Given the description of an element on the screen output the (x, y) to click on. 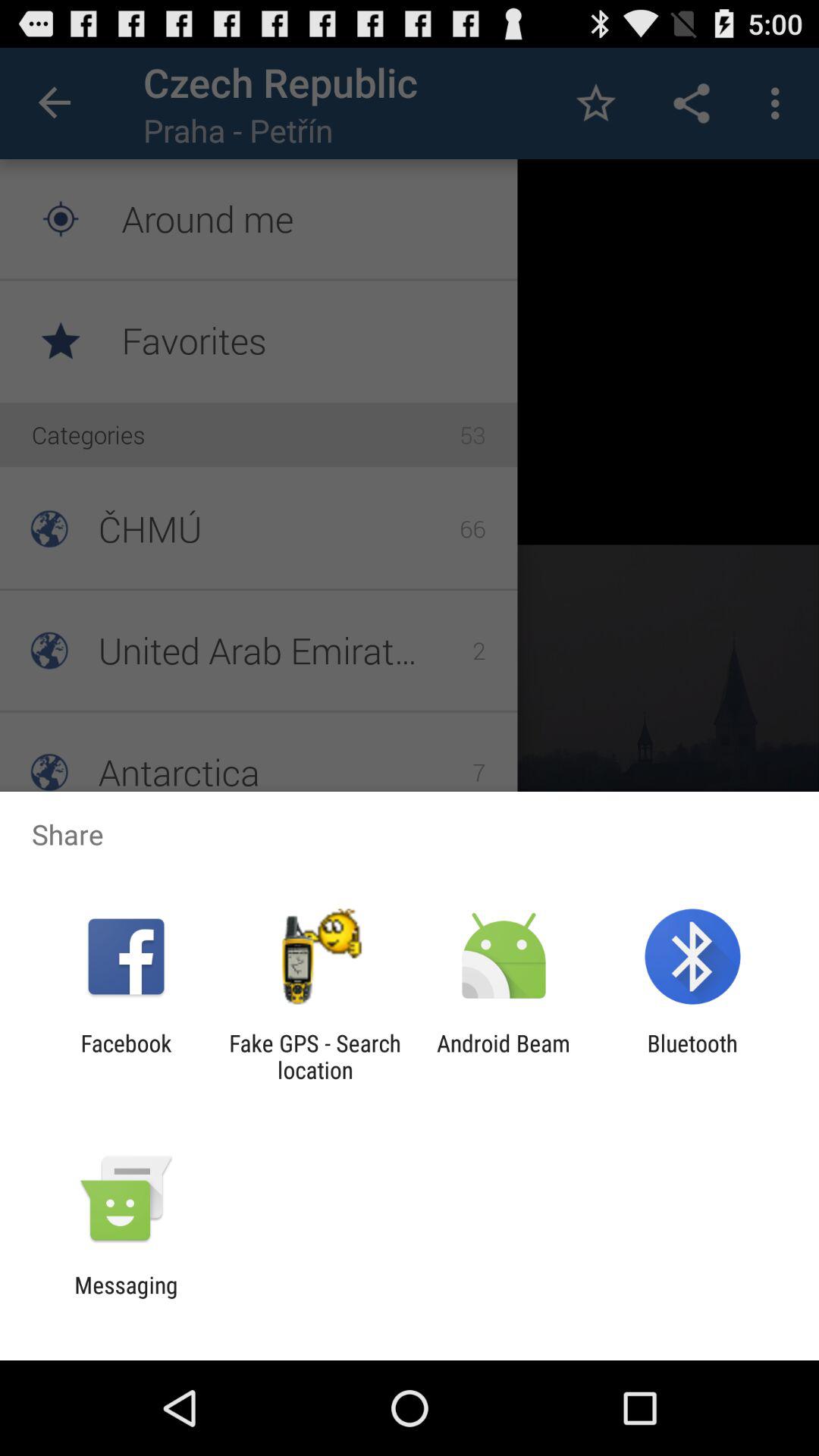
turn on app to the left of android beam app (314, 1056)
